Given the description of an element on the screen output the (x, y) to click on. 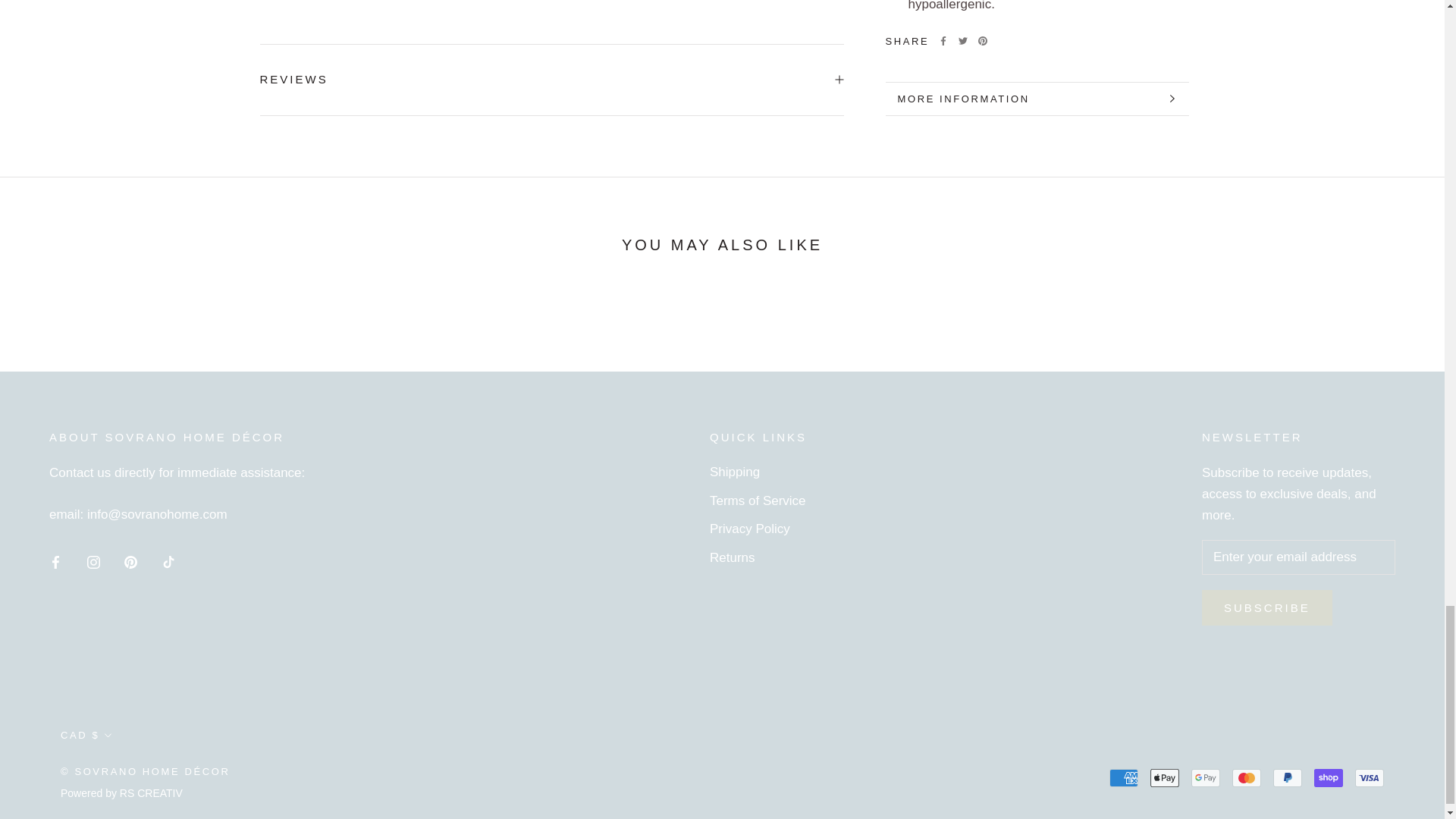
Shop Pay (1328, 778)
PayPal (1286, 778)
Google Pay (1205, 778)
Mastercard (1245, 778)
American Express (1123, 778)
Apple Pay (1164, 778)
Visa (1369, 778)
